Given the description of an element on the screen output the (x, y) to click on. 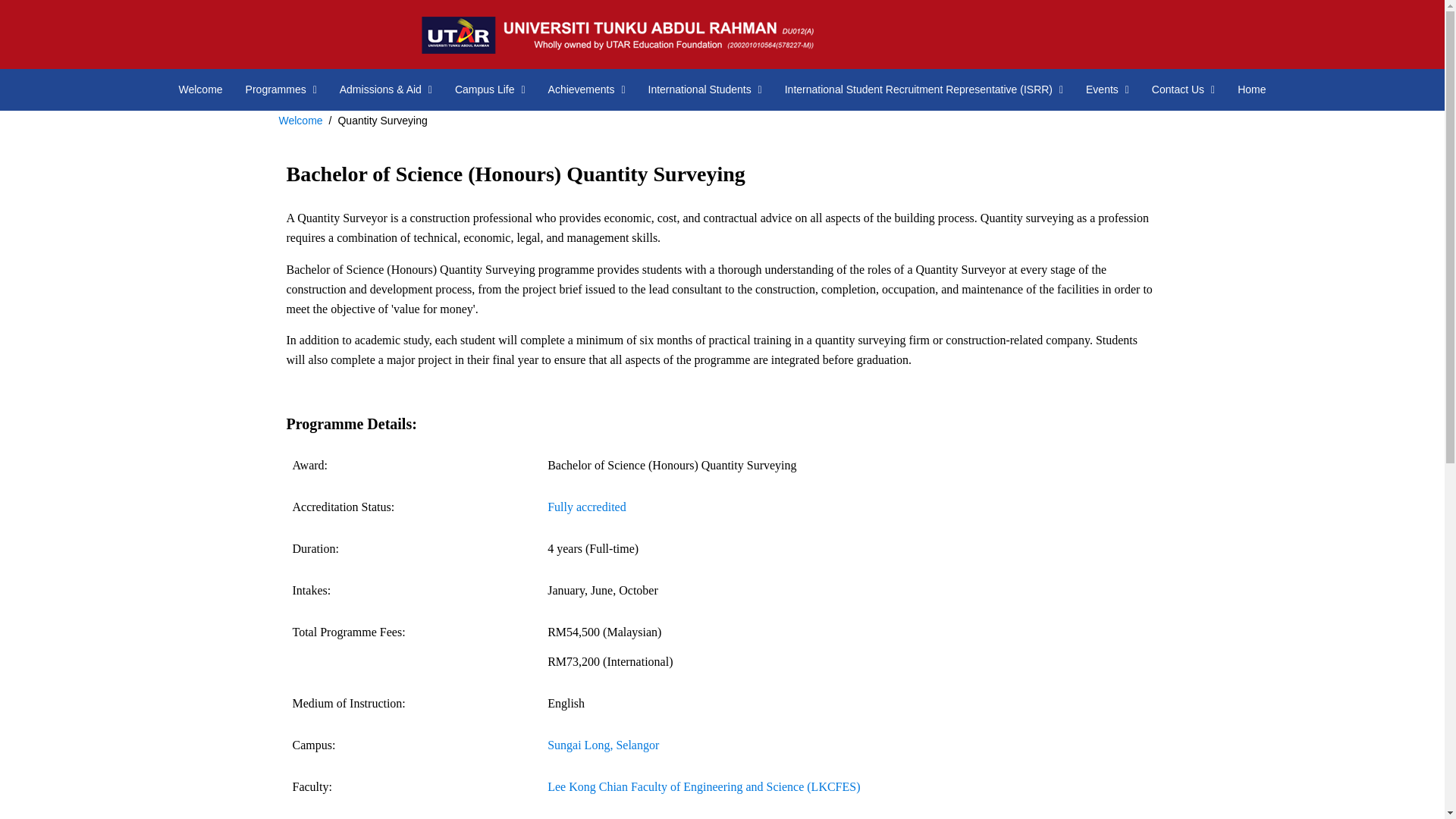
Welcome (199, 89)
Programmes (281, 89)
Campus Life (490, 89)
Achievements (587, 89)
